Given the description of an element on the screen output the (x, y) to click on. 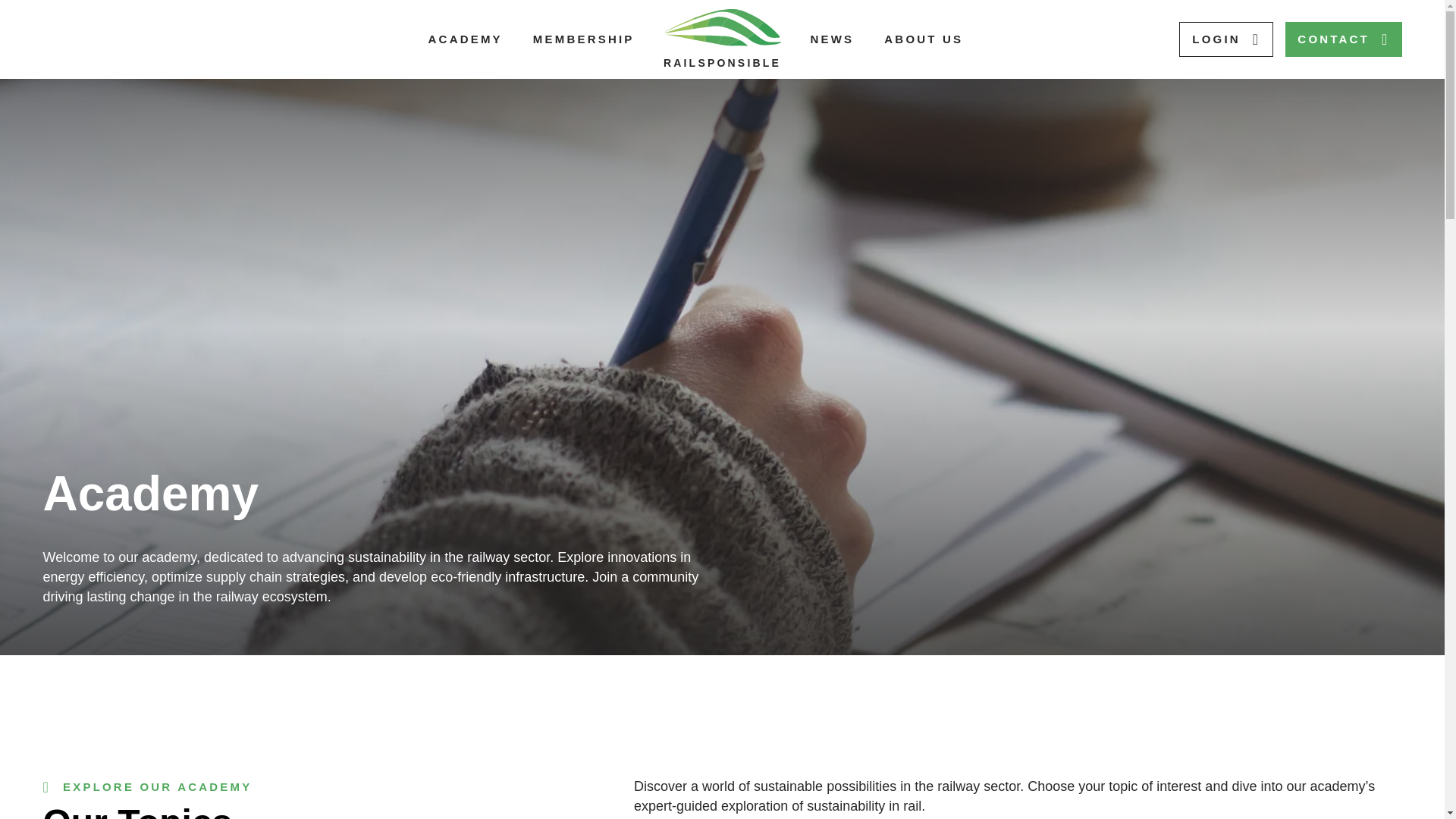
ABOUT US (922, 38)
MEMBERSHIP (583, 38)
NEWS (831, 38)
Startseite (721, 39)
CONTACT (1342, 39)
LOGIN (1225, 39)
ACADEMY (465, 38)
RAILSPONSIBLE (721, 39)
